Given the description of an element on the screen output the (x, y) to click on. 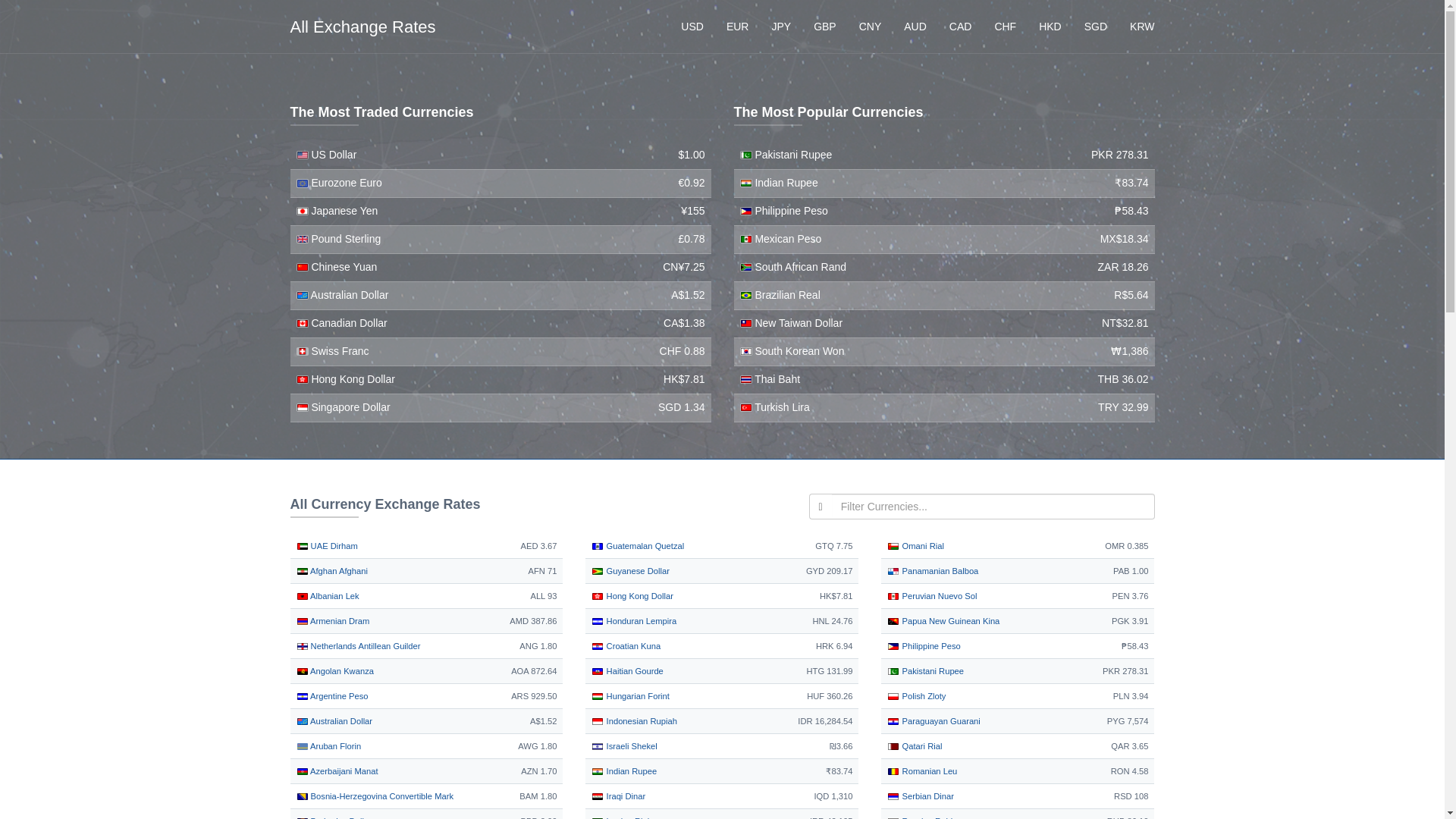
South African Rand (793, 266)
New Taiwan Dollar (791, 322)
HKD (1050, 26)
Turkish Lira (774, 407)
CAD (960, 26)
GBP (824, 26)
Philippine Peso (783, 210)
KRW (1142, 26)
Thai Baht (769, 378)
US Dollar (325, 154)
All Exchange Rates (362, 26)
Pound Sterling (337, 238)
Australian Dollar (341, 295)
South Korean Won (791, 350)
USD (691, 26)
